Given the description of an element on the screen output the (x, y) to click on. 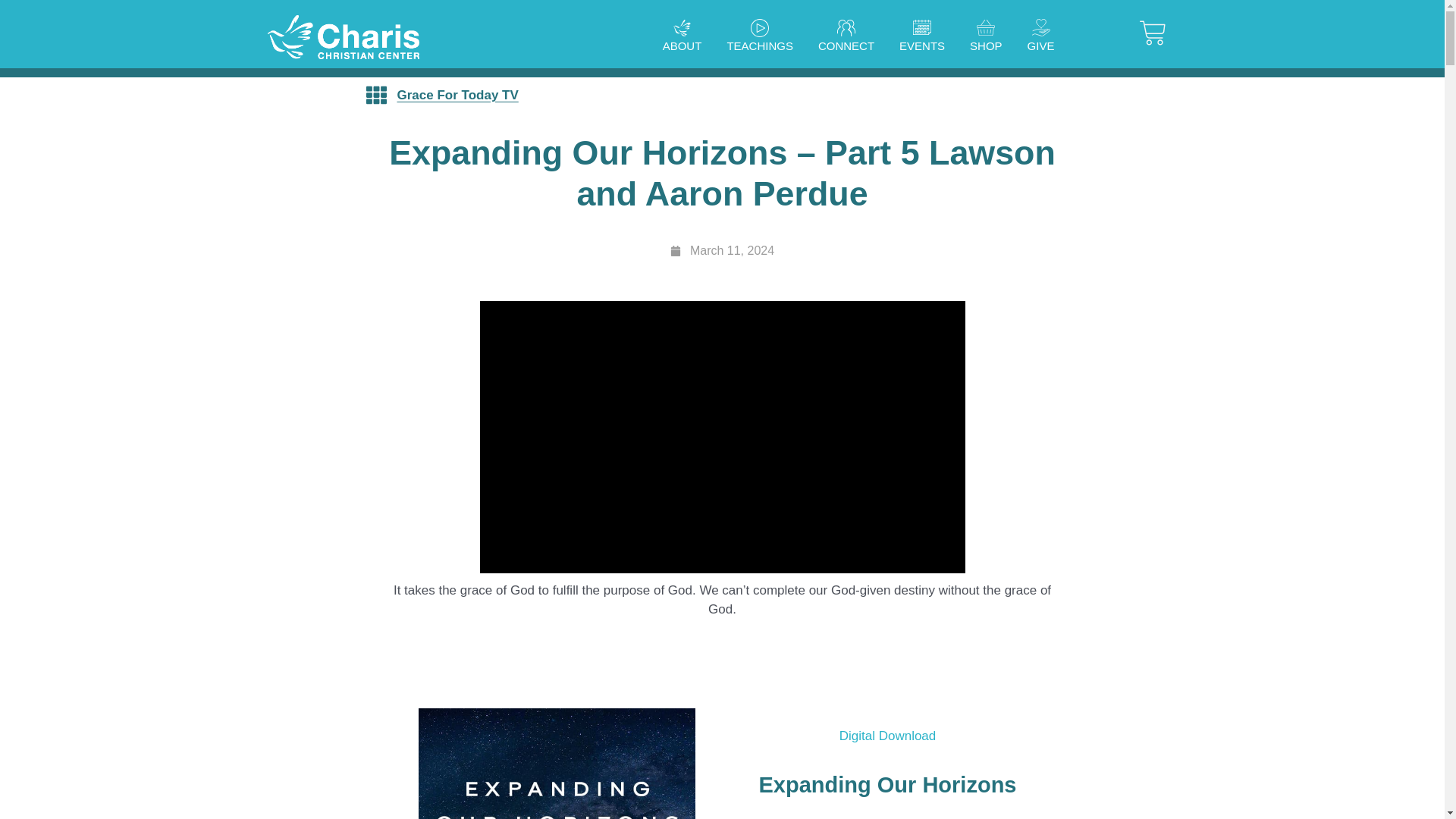
EVENTS (921, 46)
CONNECT (846, 46)
SHOP (986, 46)
ABOUT (682, 46)
TEACHINGS (759, 46)
GIVE (1040, 46)
